Given the description of an element on the screen output the (x, y) to click on. 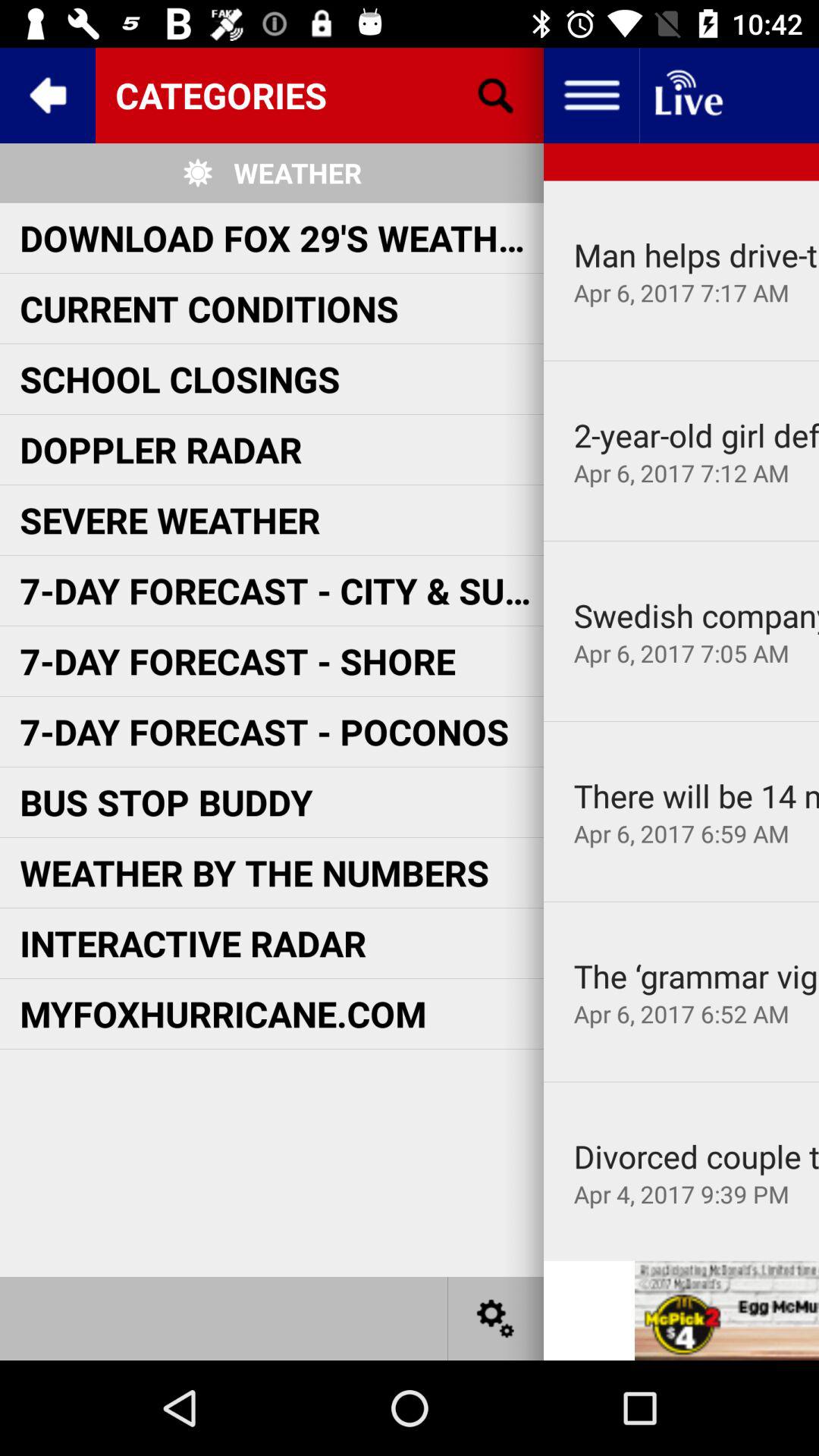
go back (47, 95)
